Given the description of an element on the screen output the (x, y) to click on. 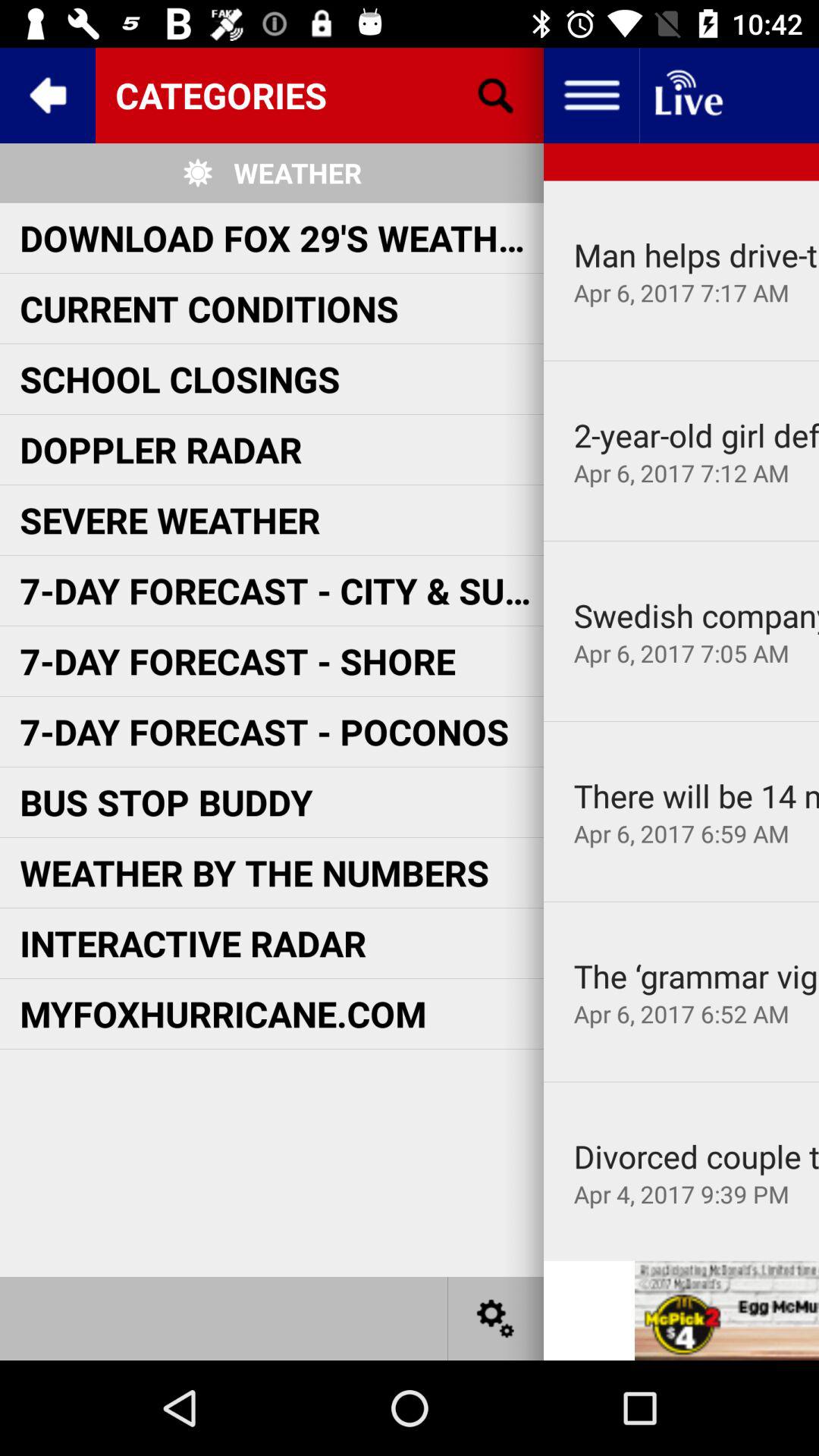
go back (47, 95)
